Given the description of an element on the screen output the (x, y) to click on. 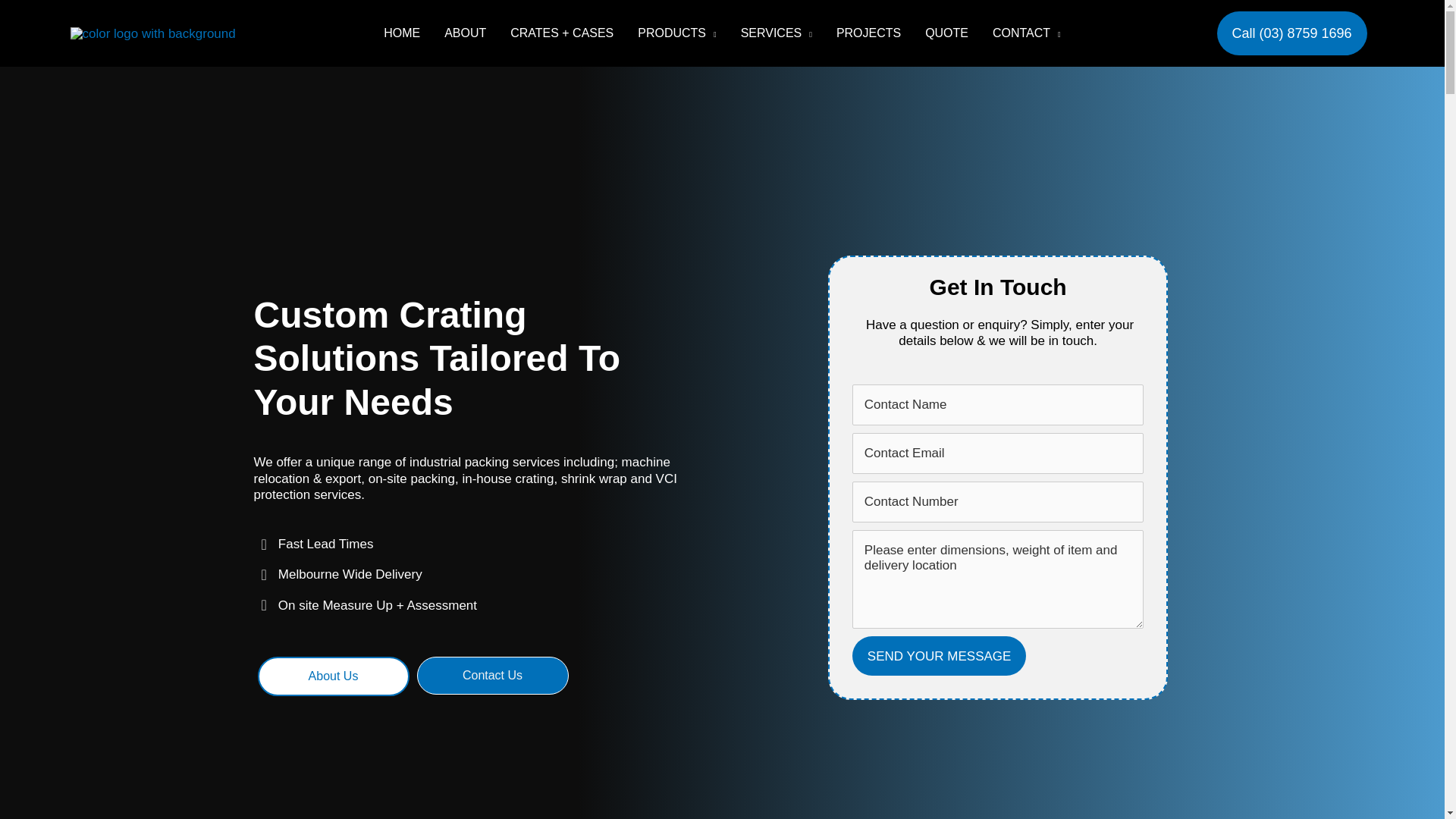
PROJECTS (868, 33)
SERVICES (776, 33)
PRODUCTS (677, 33)
HOME (401, 33)
QUOTE (945, 33)
ABOUT (464, 33)
CONTACT (1026, 33)
